Given the description of an element on the screen output the (x, y) to click on. 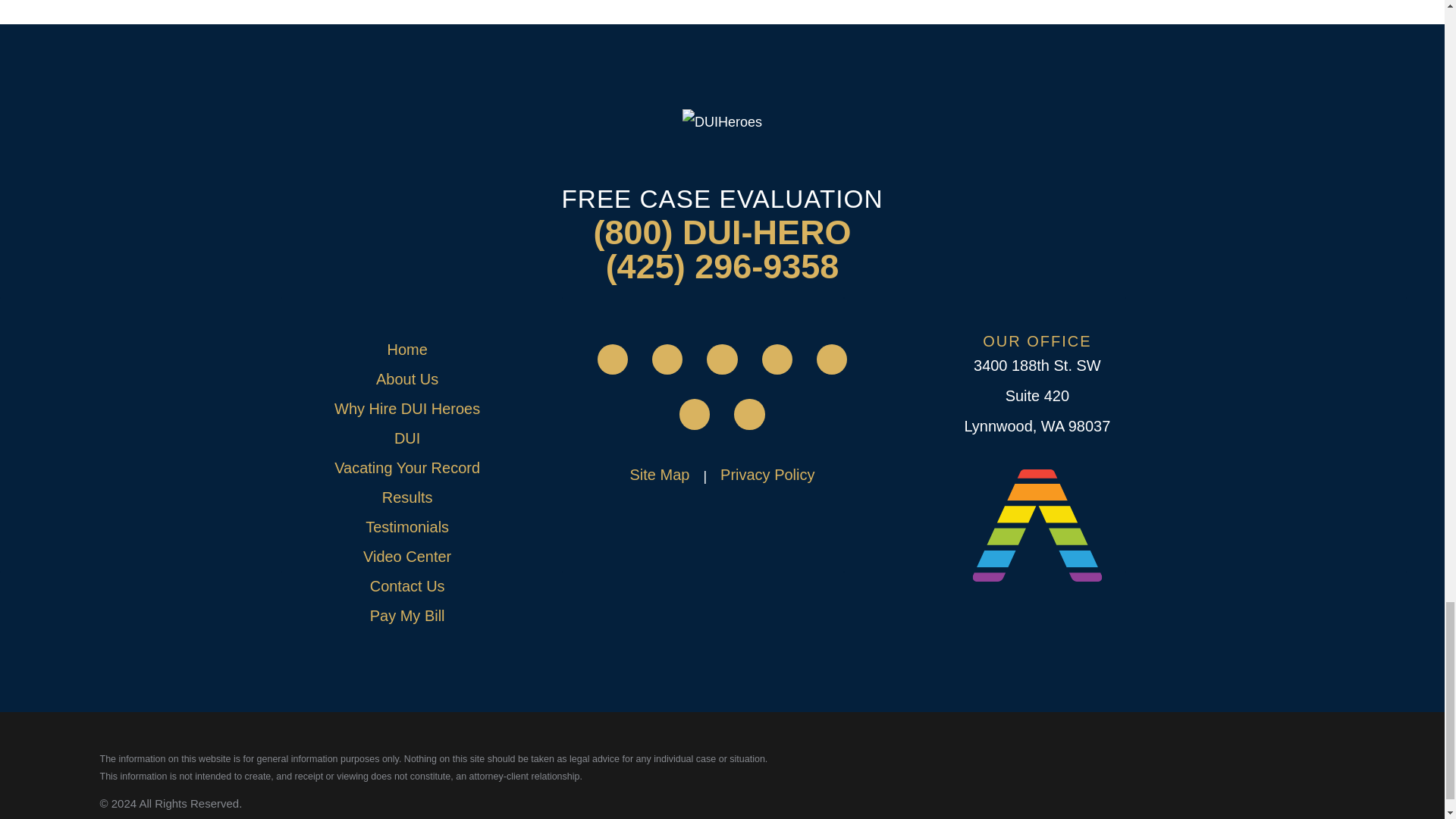
Instagram (831, 358)
DUIHeroes (721, 121)
Facebook (667, 358)
Avvo (611, 358)
Twitter (776, 358)
LinkedIn (721, 358)
